Given the description of an element on the screen output the (x, y) to click on. 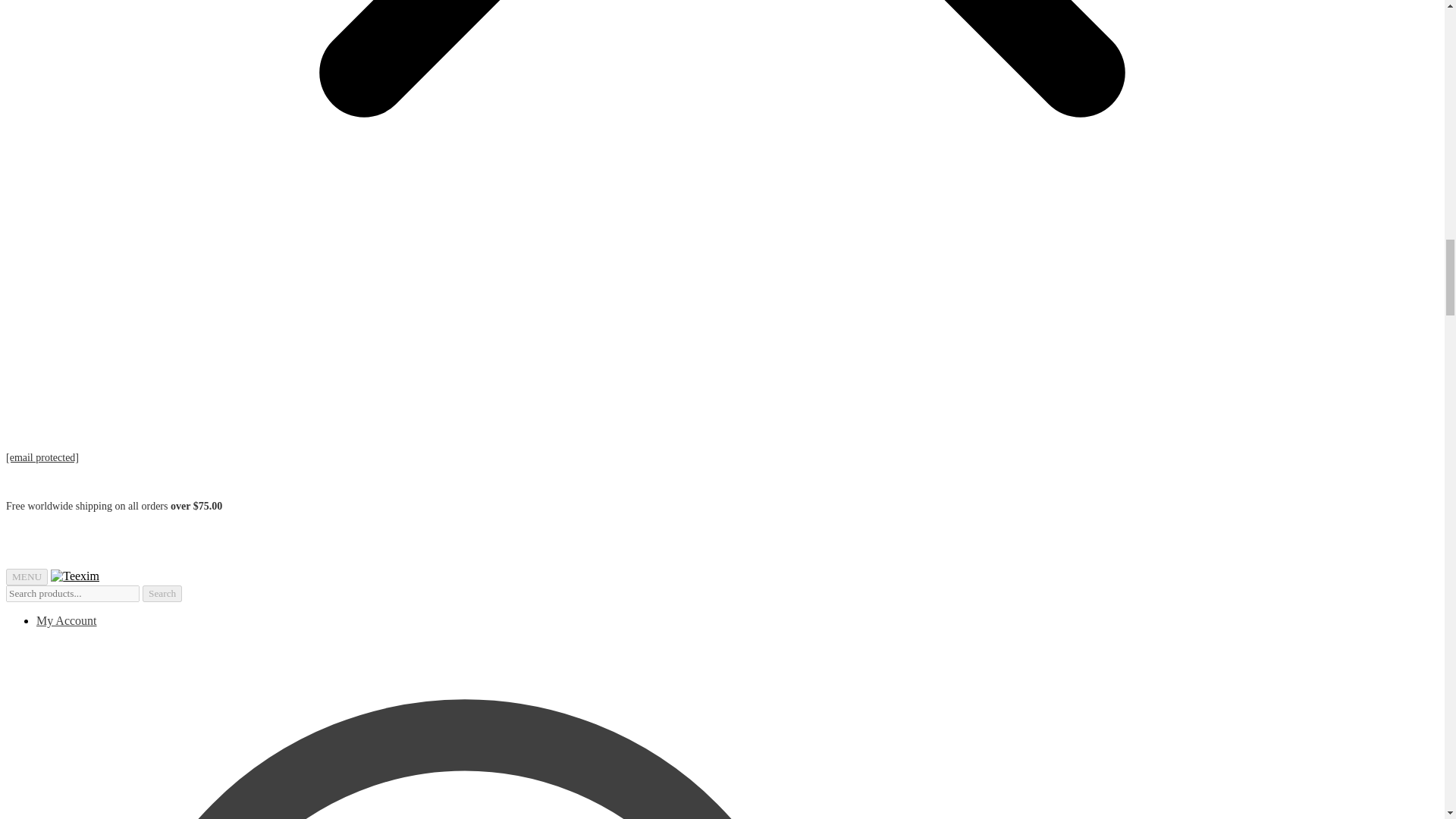
Search (162, 593)
MENU (26, 576)
